Given the description of an element on the screen output the (x, y) to click on. 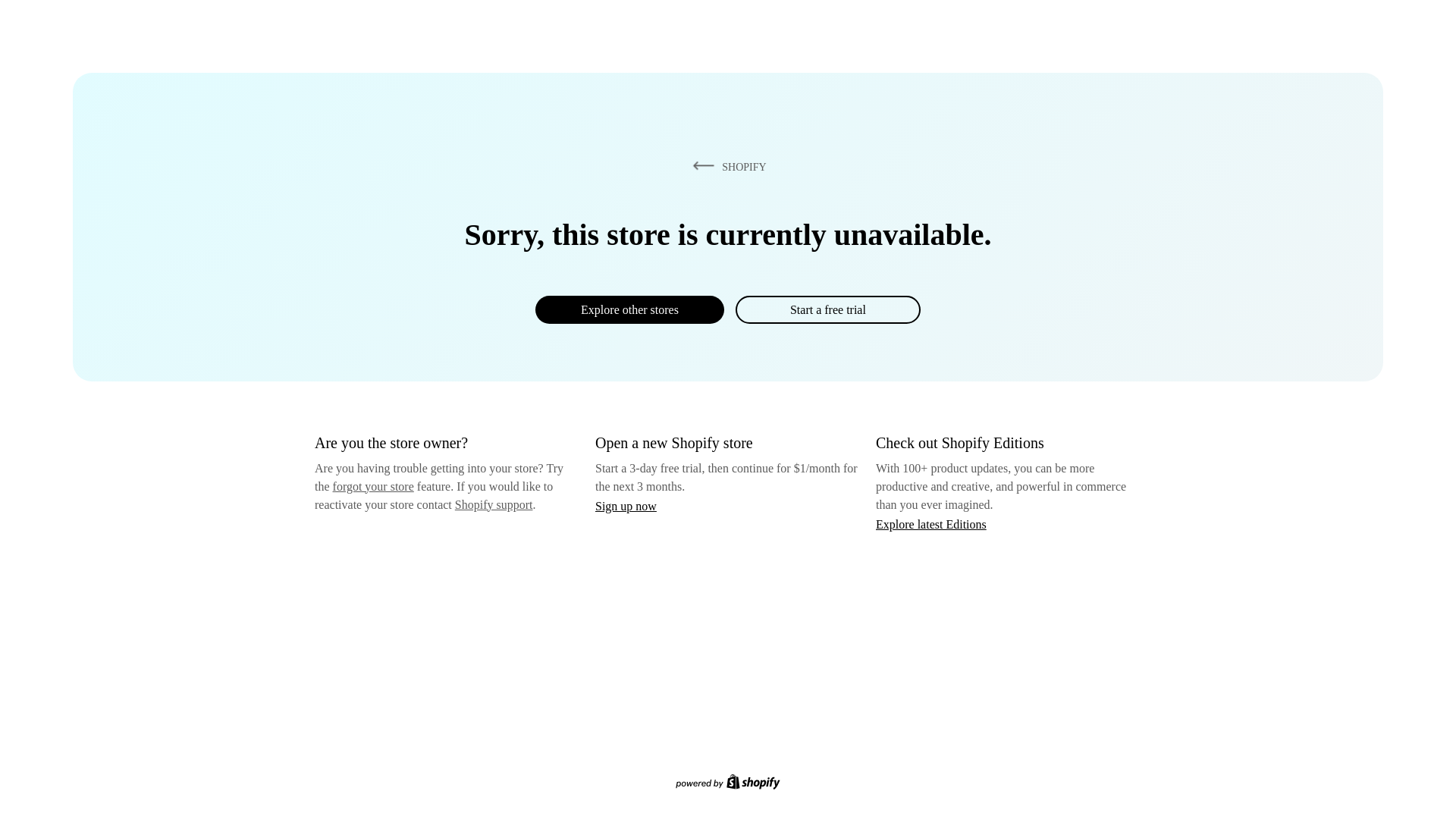
Start a free trial (827, 309)
forgot your store (373, 486)
Sign up now (625, 505)
Shopify support (493, 504)
Explore other stores (629, 309)
SHOPIFY (726, 166)
Explore latest Editions (931, 523)
